Given the description of an element on the screen output the (x, y) to click on. 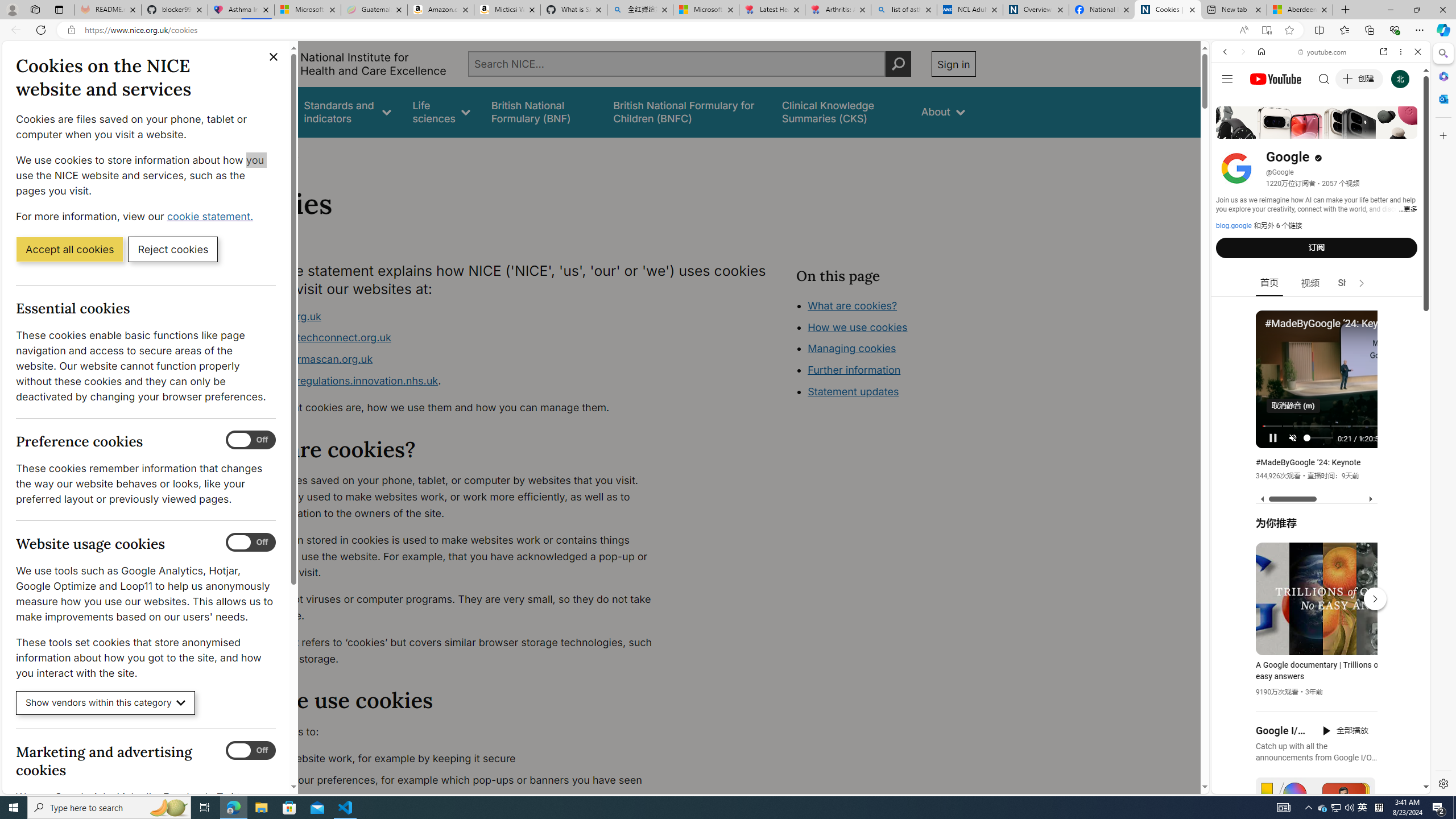
Class: style-scope tp-yt-iron-icon (1361, 283)
Open link in new tab (1383, 51)
Web scope (1230, 102)
Personal Profile (12, 9)
Statement updates (853, 391)
www.healthtechconnect.org.uk (452, 338)
Workspaces (34, 9)
Music (1320, 309)
What are cookies? (852, 305)
you (1315, 755)
Further information (854, 369)
Home (1261, 51)
